Given the description of an element on the screen output the (x, y) to click on. 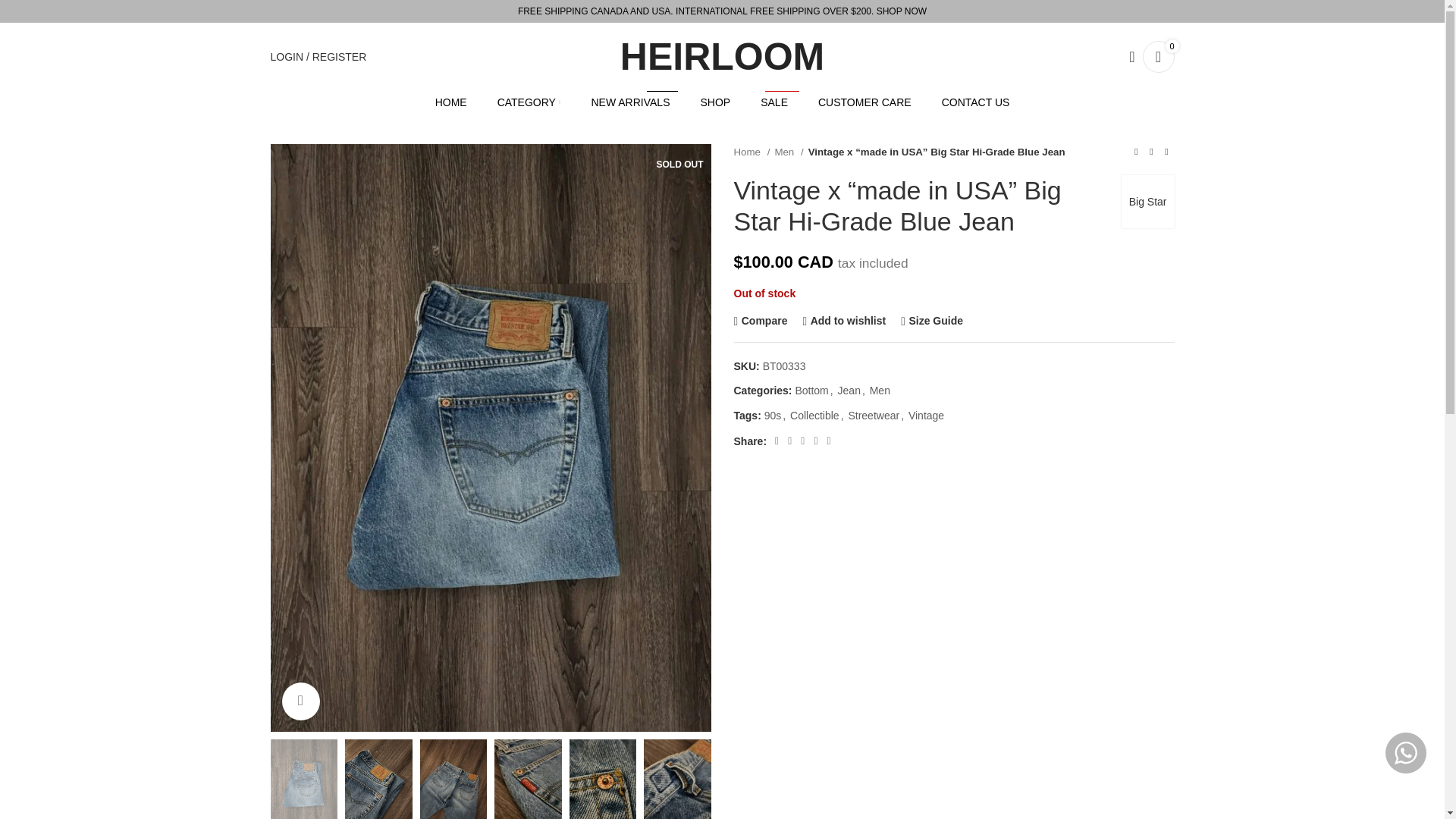
CATEGORY (528, 101)
My account (318, 56)
SHOP (715, 101)
Log in (630, 101)
0 (395, 297)
HOME (1157, 56)
Shopping cart (773, 101)
